Given the description of an element on the screen output the (x, y) to click on. 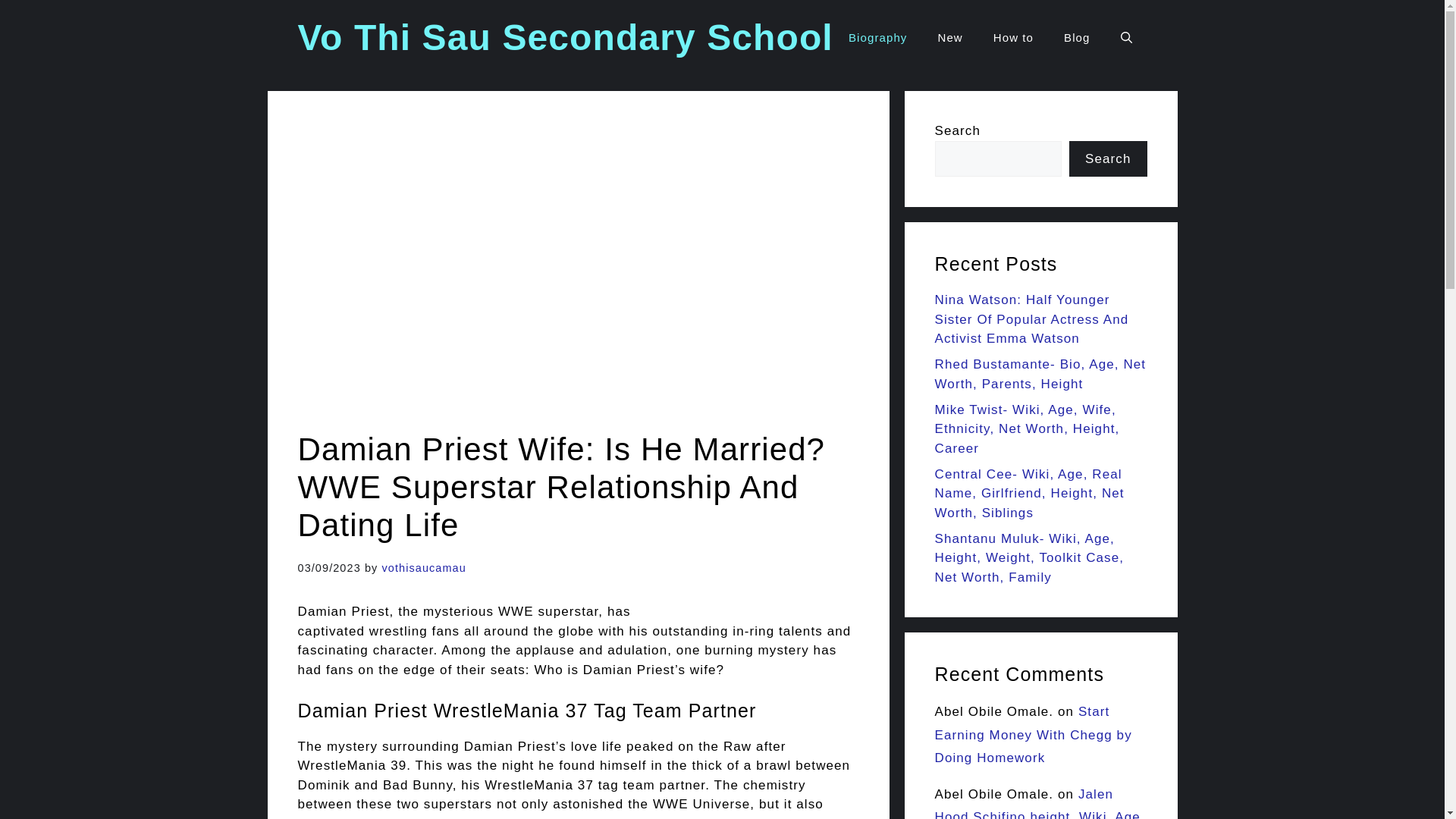
View all posts by vothisaucamau (423, 567)
Search (1107, 158)
How to (1013, 37)
Vo Thi Sau Secondary School (564, 37)
Biography (876, 37)
Start Earning Money With Chegg by Doing Homework (1032, 734)
Blog (1076, 37)
Rhed Bustamante- Bio, Age, Net Worth, Parents, Height (1039, 374)
